Given the description of an element on the screen output the (x, y) to click on. 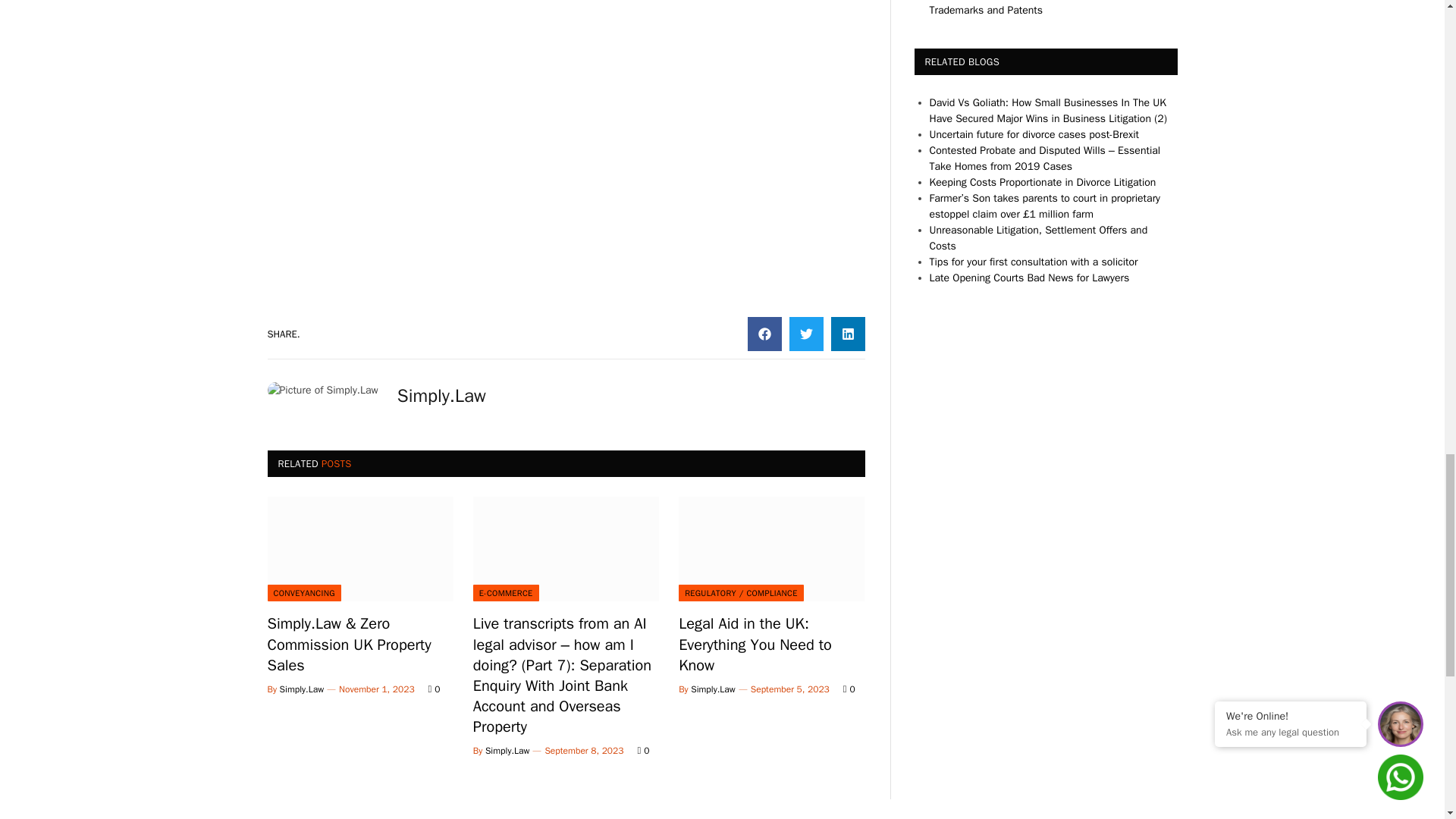
Legal Aid in the UK: Everything You Need to Know (771, 548)
Posts by Simply.Law (712, 689)
Posts by Simply.Law (301, 689)
Posts by Simply.Law (506, 750)
